Given the description of an element on the screen output the (x, y) to click on. 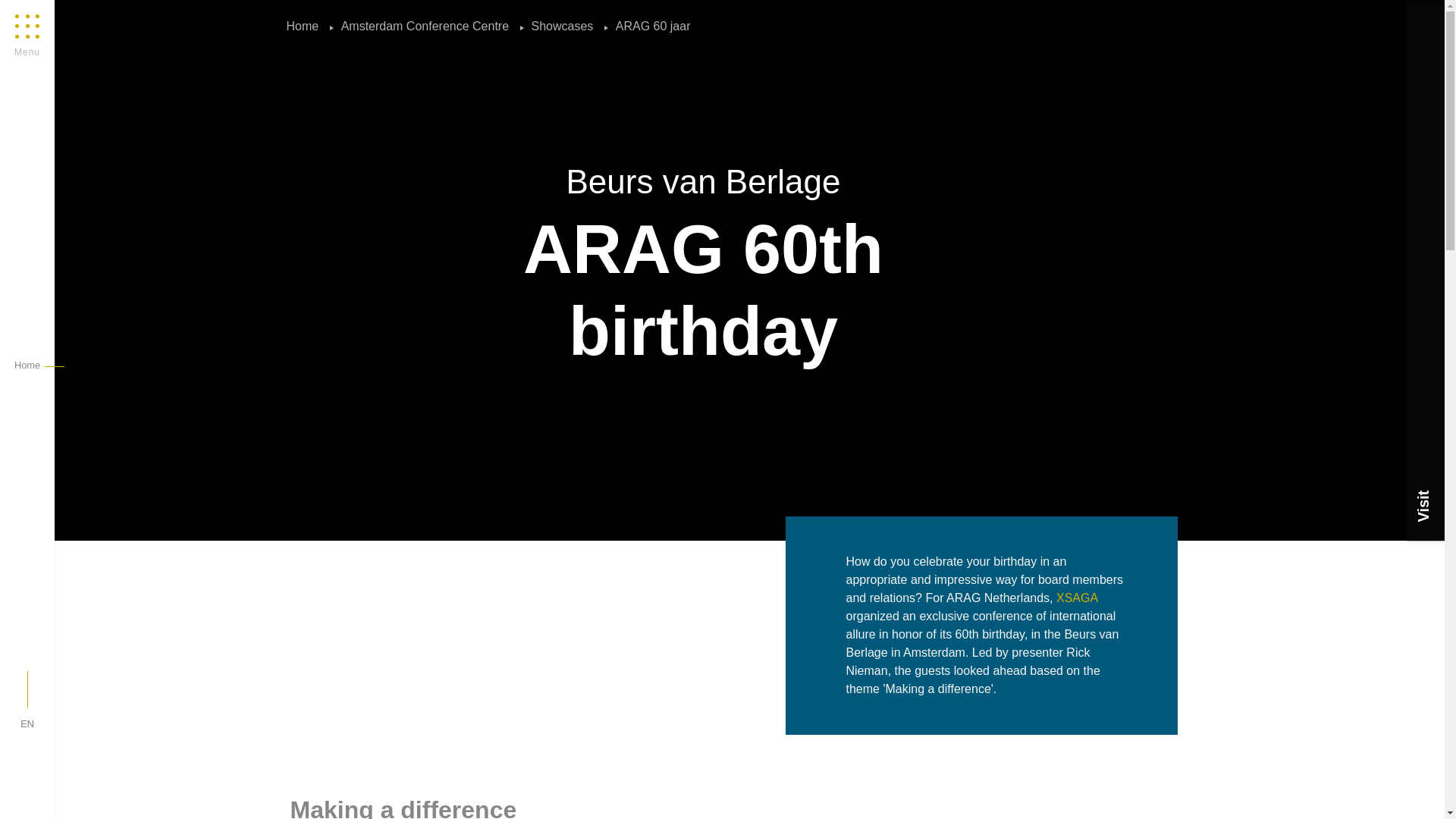
About the Beurs (45, 27)
Sustainability (62, 11)
Home (28, 11)
Rooms Overview (44, 27)
ARAG 60 jaar (649, 25)
Photo gallery (61, 11)
Home (27, 366)
Showcases (564, 25)
Visit the Beurs van Berlage (48, 43)
Home (306, 25)
XSAGA (1077, 597)
Organise your event (49, 27)
Services (40, 11)
Contact (37, 11)
020 - 531 33 55 (72, 8)
